Given the description of an element on the screen output the (x, y) to click on. 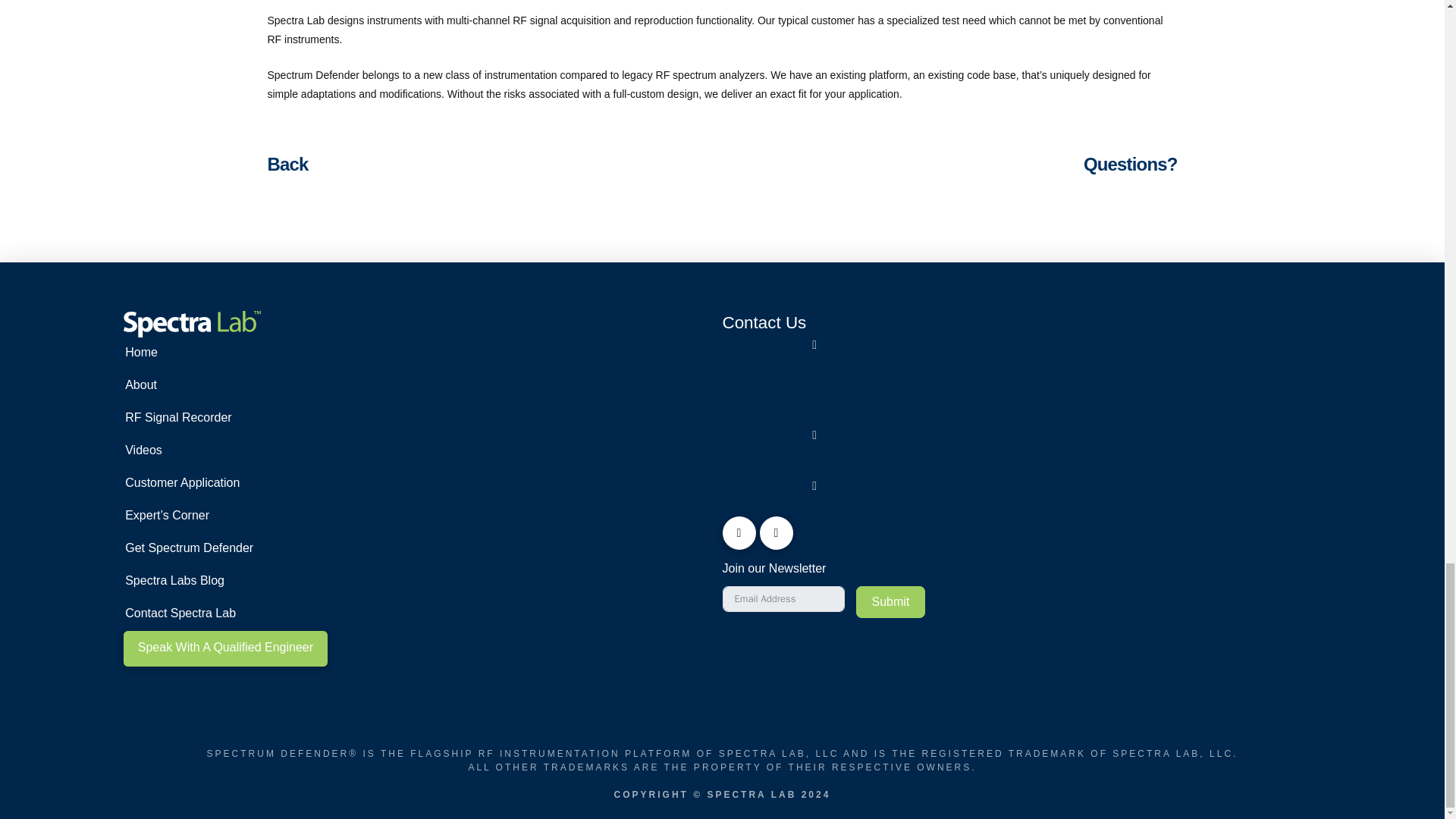
Back (286, 163)
Spectra Labs Blog (267, 581)
Submit (890, 602)
Contact Spectra Lab (267, 614)
Home (267, 353)
About (267, 386)
Customer Application (267, 483)
Questions? (1130, 163)
Videos (267, 450)
Speak With A Qualified Engineer (224, 648)
Get Spectrum Defender (267, 549)
RF Signal Recorder (267, 418)
